Given the description of an element on the screen output the (x, y) to click on. 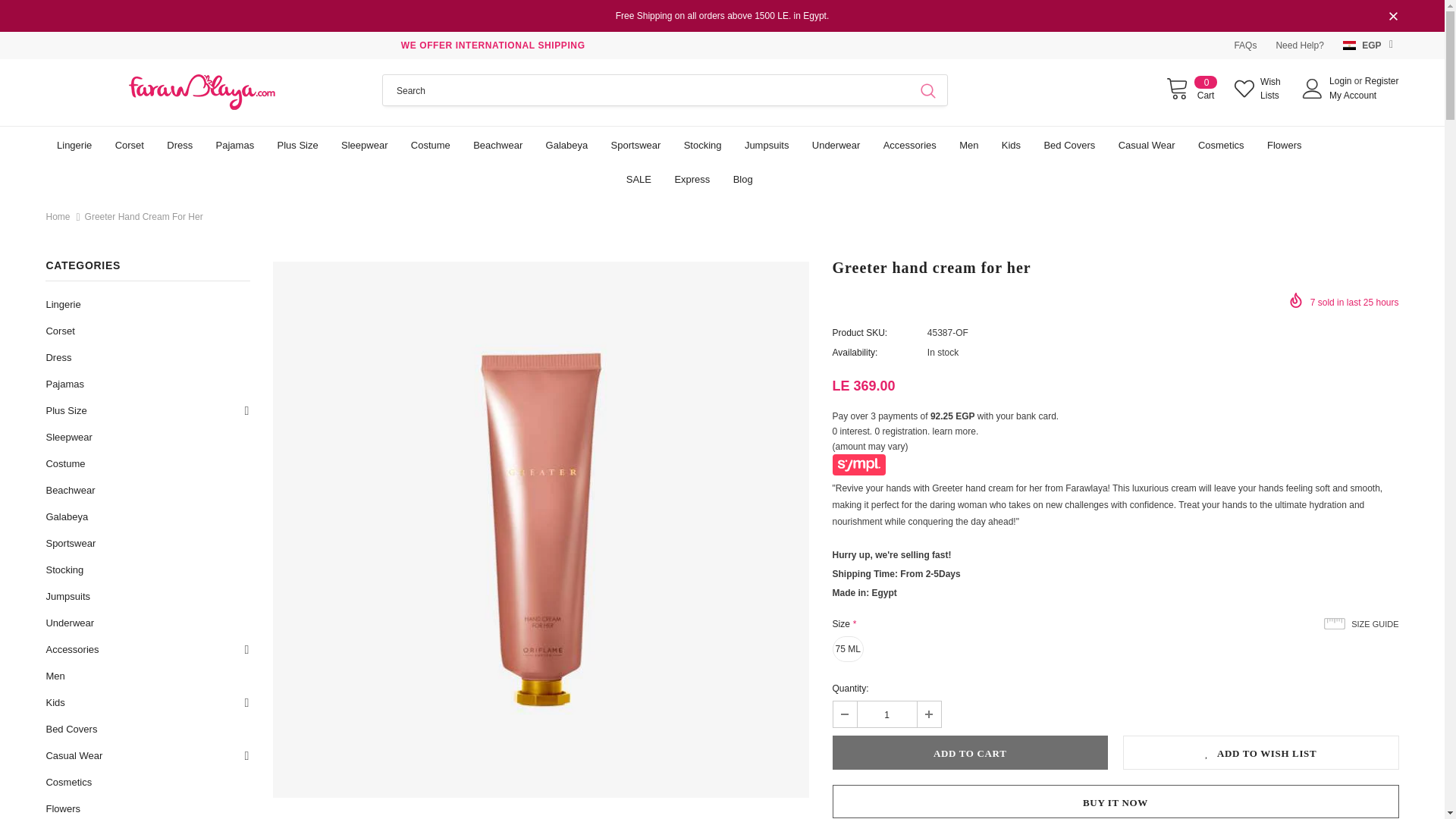
Corset (129, 144)
1 (886, 714)
close (1393, 16)
Underwear (836, 144)
Pajamas (234, 144)
Beachwear (497, 144)
User Icon (1312, 88)
Need Help? (1299, 45)
Logo (1191, 88)
Sportswear (202, 92)
My Account (636, 144)
Cart (1352, 95)
FAQs (1191, 88)
Plus Size (1244, 45)
